Given the description of an element on the screen output the (x, y) to click on. 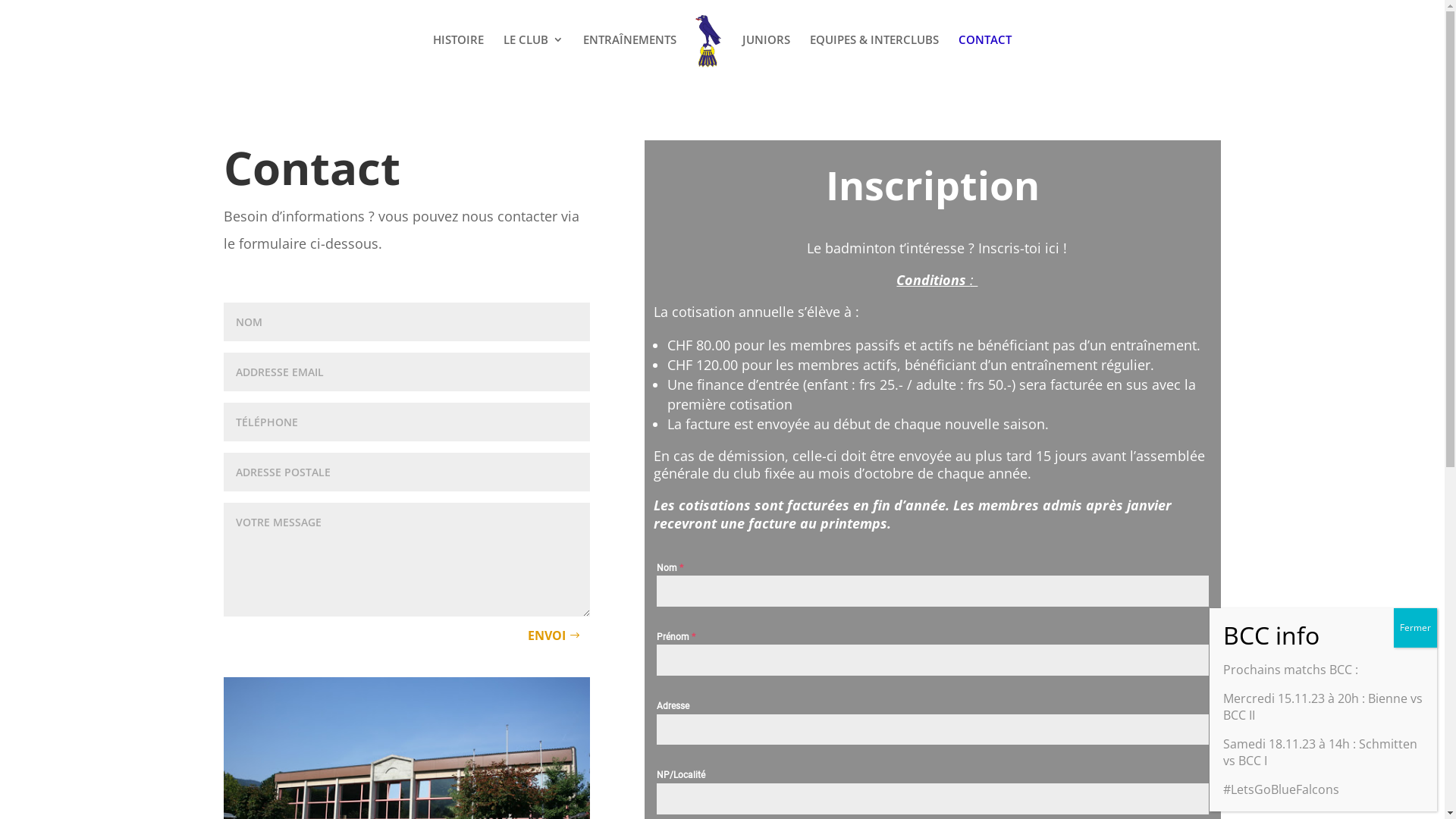
HISTOIRE Element type: text (458, 56)
LE CLUB Element type: text (533, 56)
Fermer Element type: text (1415, 627)
ENVOI Element type: text (553, 635)
JUNIORS Element type: text (766, 56)
EQUIPES & INTERCLUBS Element type: text (873, 56)
CONTACT Element type: text (984, 56)
